Given the description of an element on the screen output the (x, y) to click on. 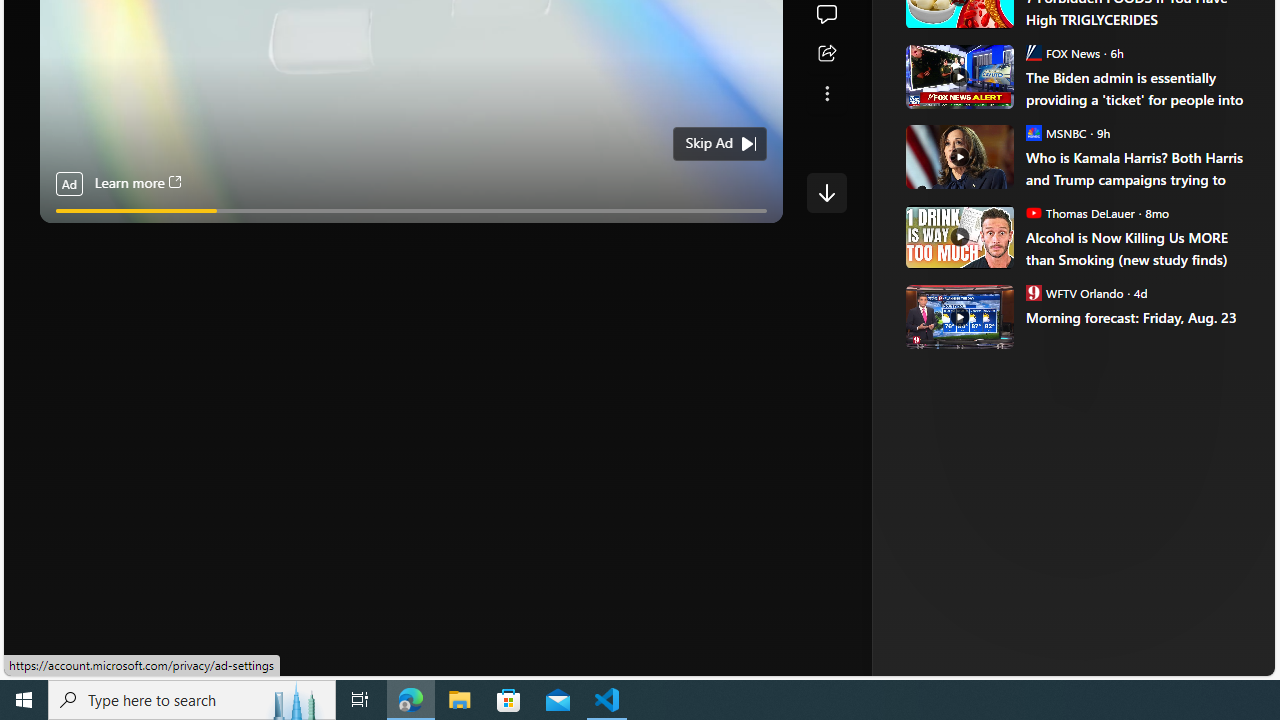
Morning forecast: Friday, Aug. 23 (1136, 317)
video progress bar (411, 210)
Thomas DeLauer Thomas DeLauer (1080, 212)
Skip Ad (708, 143)
FOX News (1033, 52)
ABC News (974, 12)
Learn more (137, 183)
Summer Sale! Up to -55% (1084, 284)
